Given the description of an element on the screen output the (x, y) to click on. 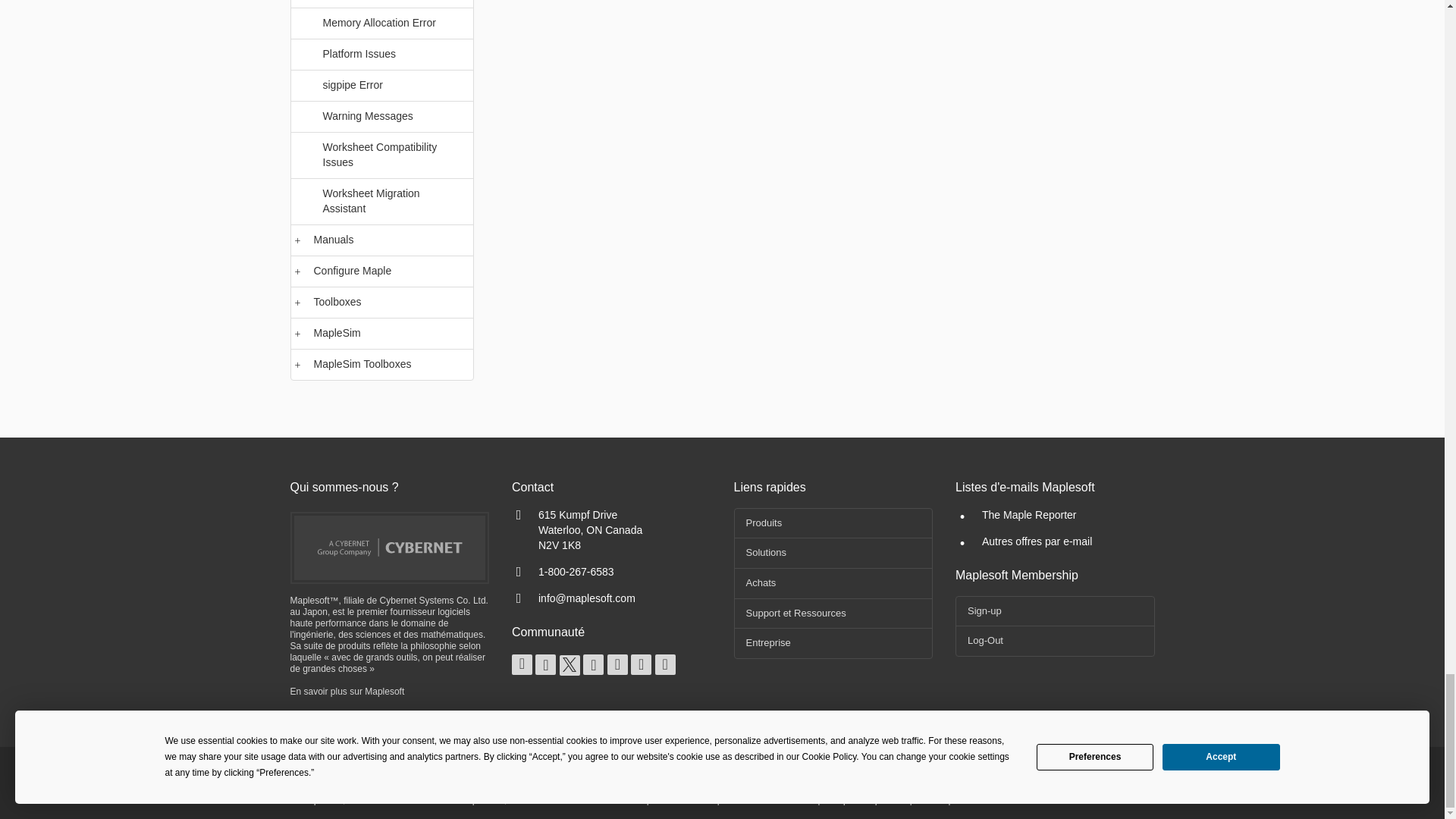
WeChat (665, 664)
